Given the description of an element on the screen output the (x, y) to click on. 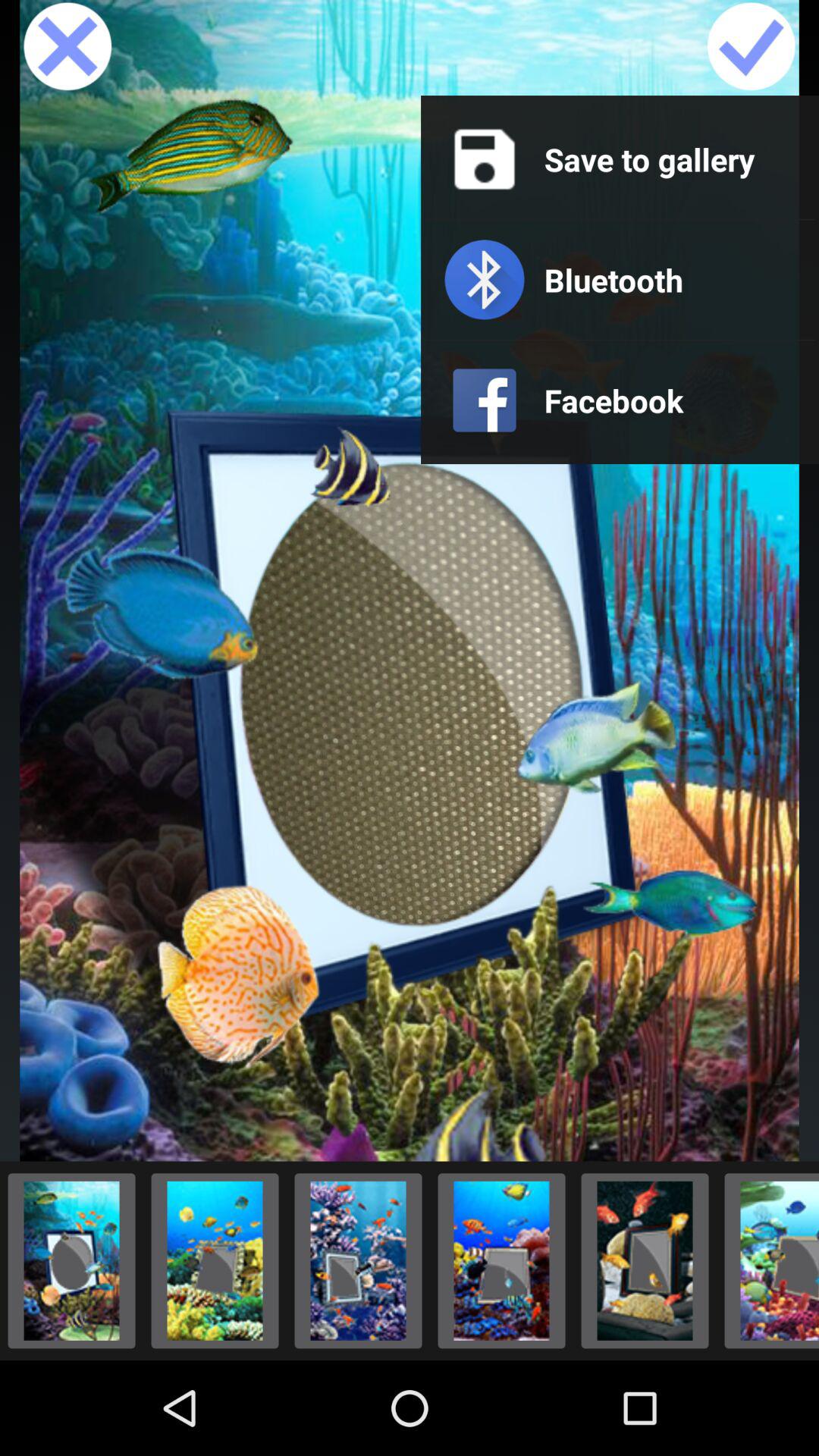
select option\ (767, 1260)
